Given the description of an element on the screen output the (x, y) to click on. 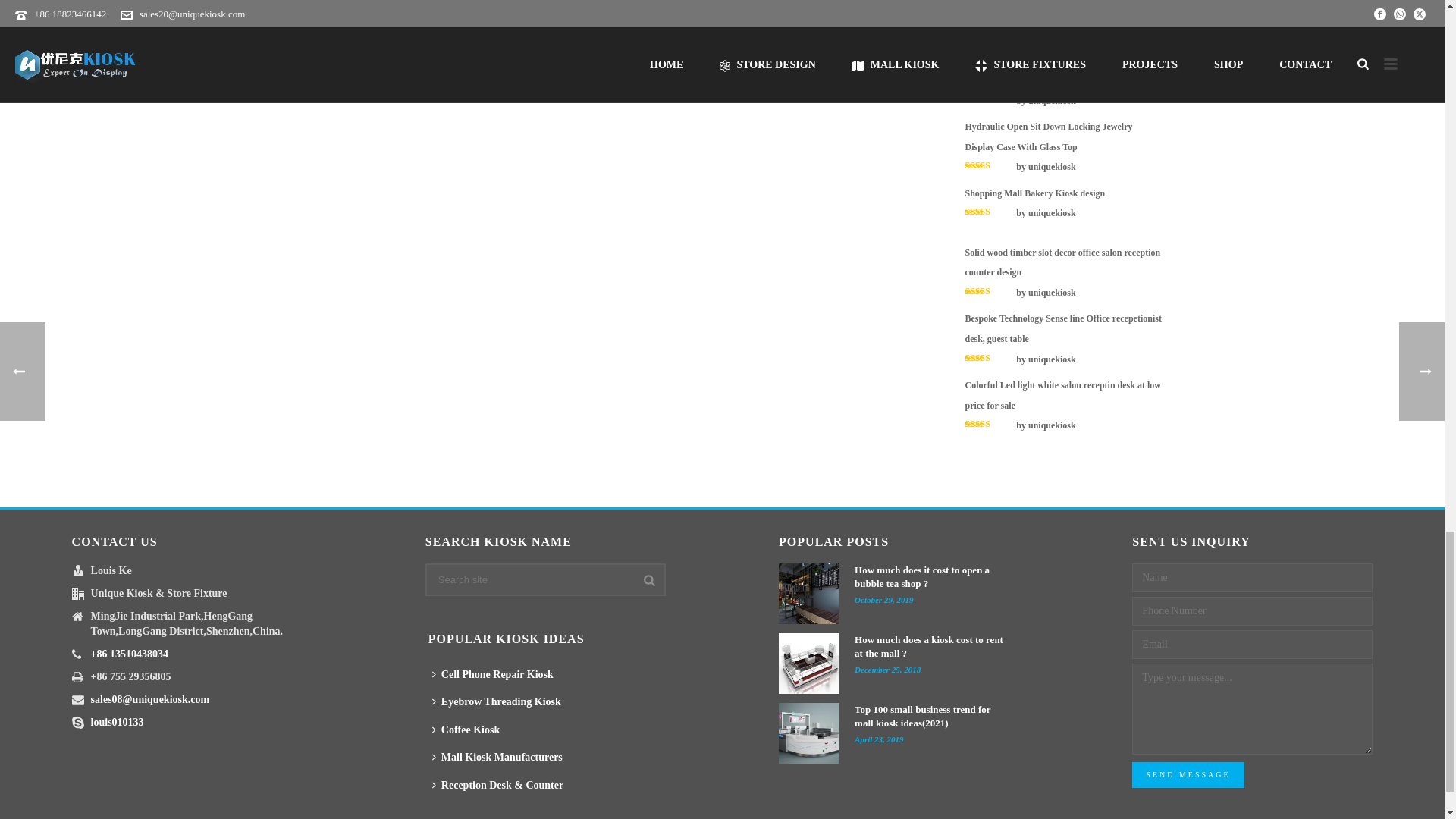
Rated 5 out of 5 (988, 31)
Rated 5 out of 5 (988, 99)
